Given the description of an element on the screen output the (x, y) to click on. 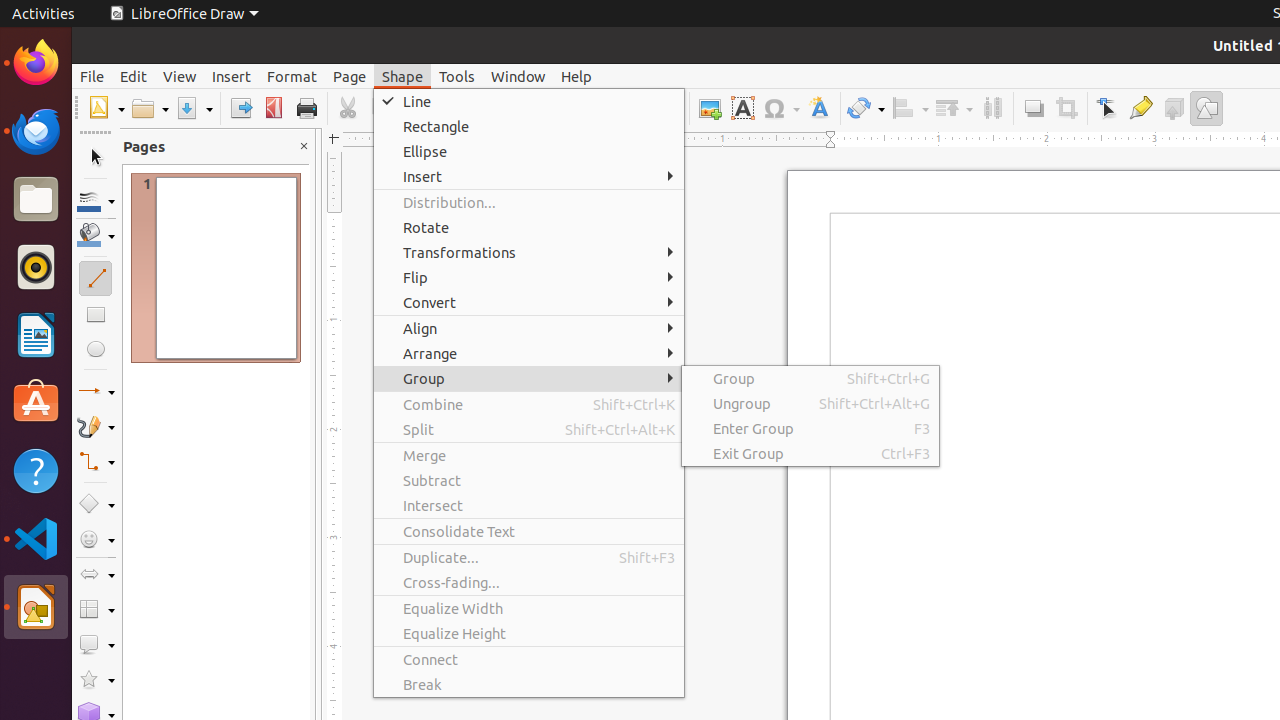
Ubuntu Software Element type: push-button (36, 402)
LibreOffice Draw Element type: menu (183, 13)
Edit Points Element type: push-button (1107, 108)
File Element type: menu (92, 76)
Edit Element type: menu (133, 76)
